Given the description of an element on the screen output the (x, y) to click on. 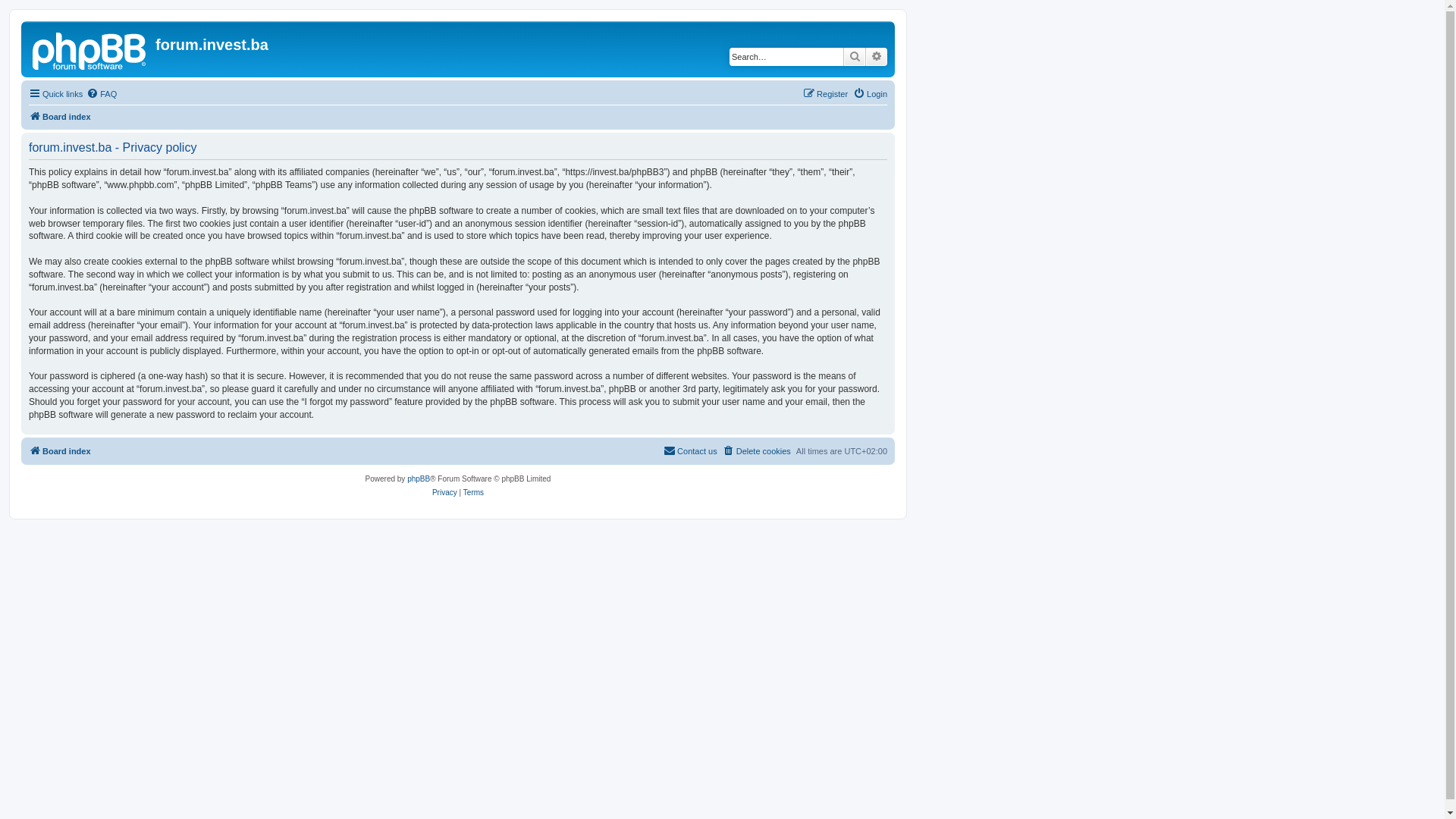
Advanced search Element type: text (876, 56)
Search Element type: text (854, 56)
Board index Element type: text (59, 451)
phpBB Element type: text (418, 478)
Login Element type: text (870, 93)
Search for keywords Element type: hover (786, 56)
Privacy Element type: text (444, 491)
FAQ Element type: text (101, 93)
Terms Element type: text (473, 491)
Delete cookies Element type: text (756, 451)
Board index Element type: hover (90, 49)
Register Element type: text (825, 93)
Board index Element type: text (59, 116)
Contact us Element type: text (690, 451)
Quick links Element type: text (55, 93)
